Given the description of an element on the screen output the (x, y) to click on. 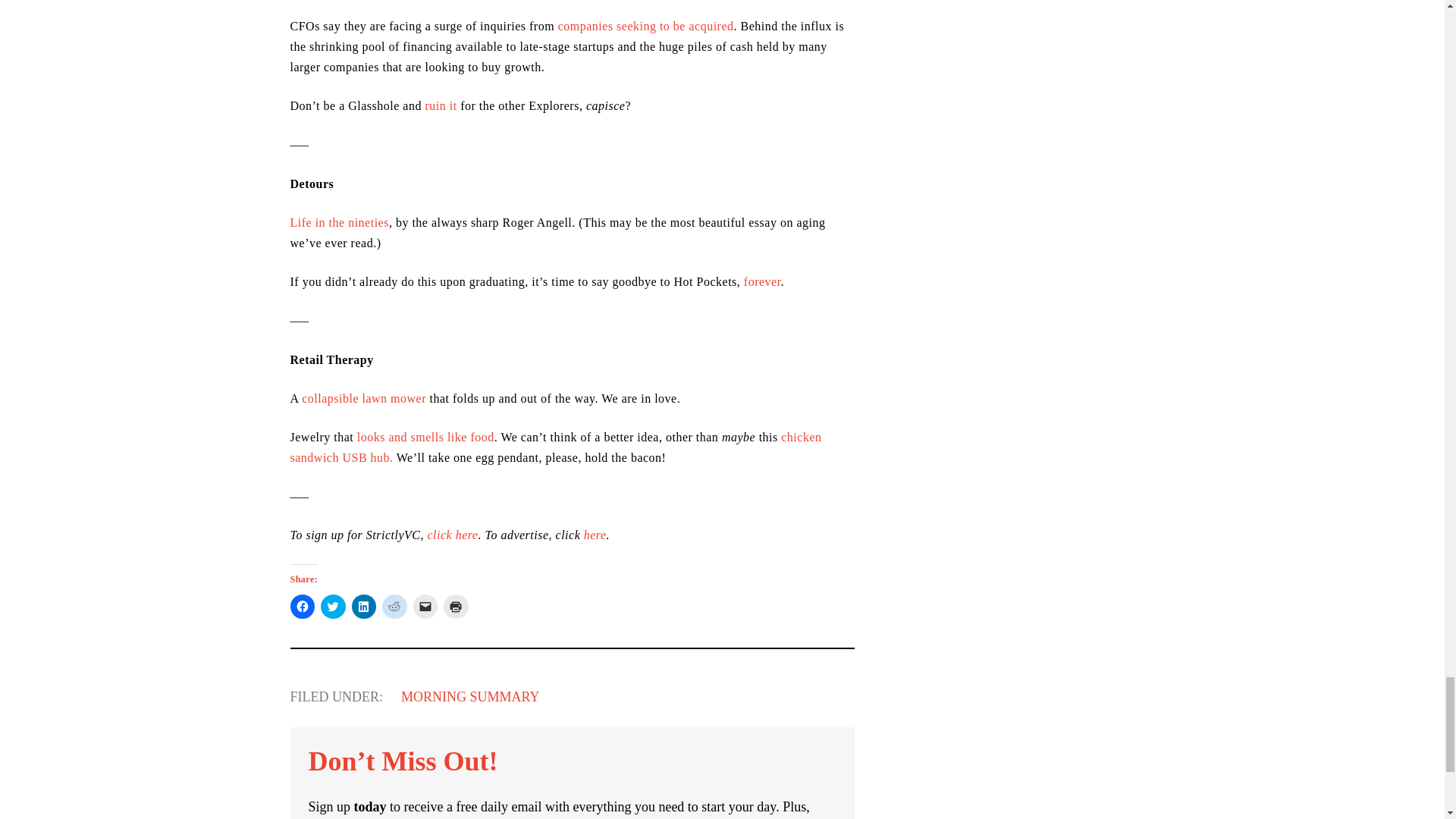
Click to email a link to a friend (425, 606)
Click to share on Reddit (394, 606)
Click to share on Facebook (301, 606)
Click to print (456, 606)
Click to share on LinkedIn (364, 606)
Click to share on Twitter (333, 606)
